Given the description of an element on the screen output the (x, y) to click on. 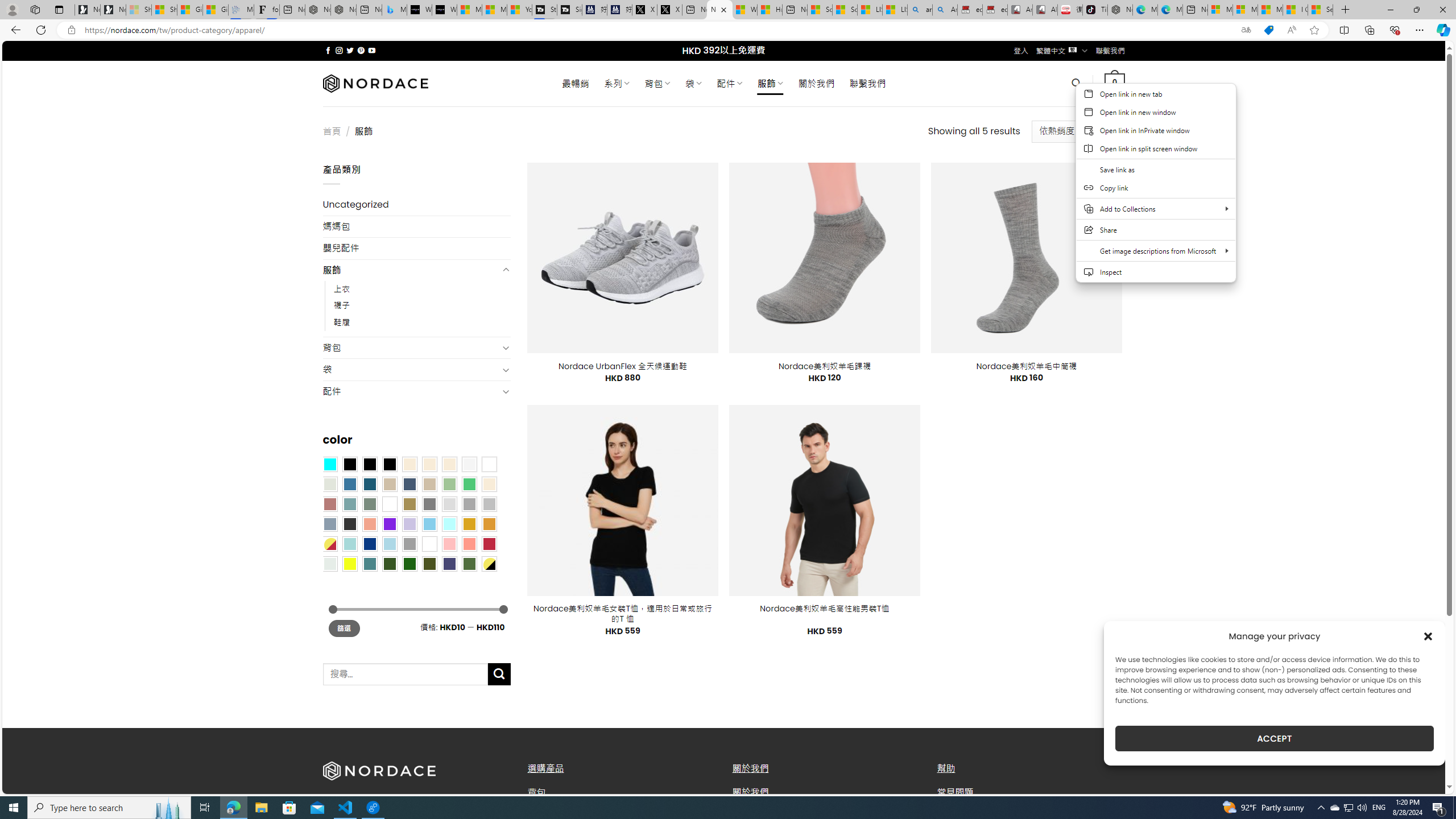
Amazon Echo Dot PNG - Search Images (944, 9)
Get image descriptions from Microsoft (1155, 250)
Inspect (1155, 271)
 0  (1115, 83)
